Given the description of an element on the screen output the (x, y) to click on. 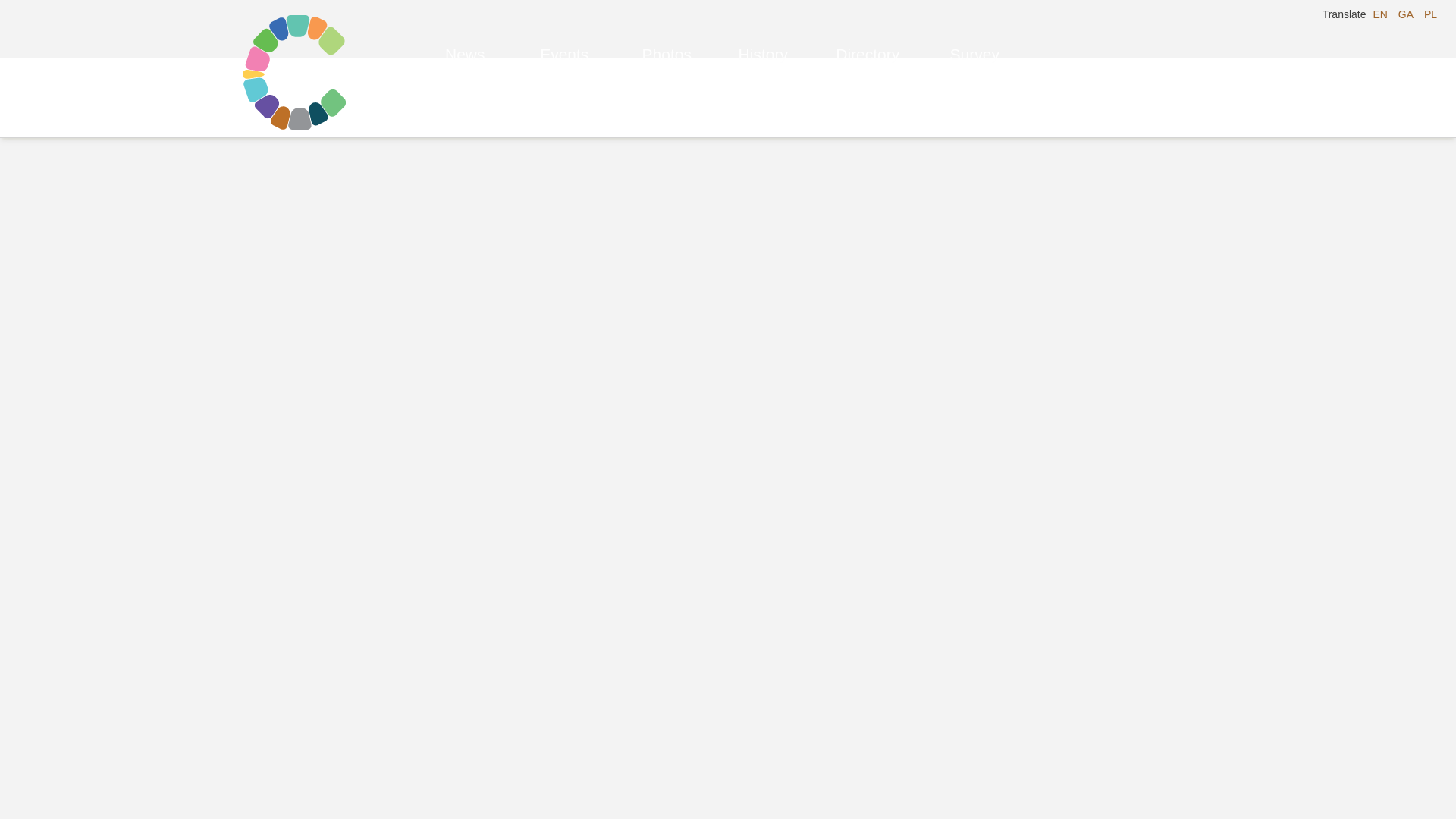
Translate to English (1380, 14)
Translate to Gaeilge (1405, 14)
Directory (867, 38)
GA (1405, 14)
Translate to Polish (1430, 14)
Directory (867, 38)
Photos (666, 38)
The community-curated website for Claregalway (305, 68)
News (465, 38)
News (465, 38)
History (762, 38)
Events (564, 38)
Photos (666, 38)
Events (564, 38)
History (762, 38)
